Given the description of an element on the screen output the (x, y) to click on. 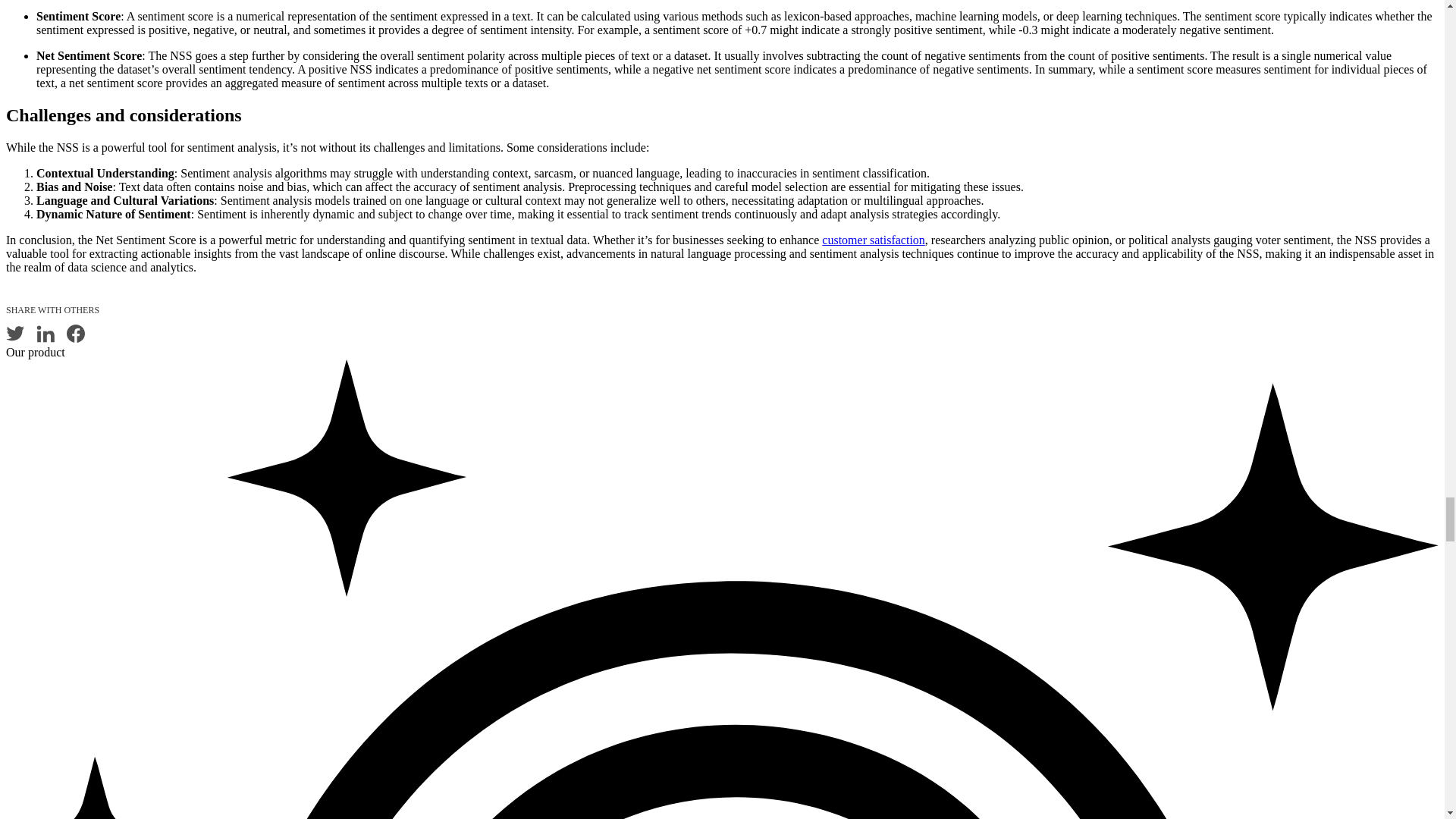
LinkedInLinkedIn Icon (45, 333)
TwitterTwitter Icon (14, 333)
